Given the description of an element on the screen output the (x, y) to click on. 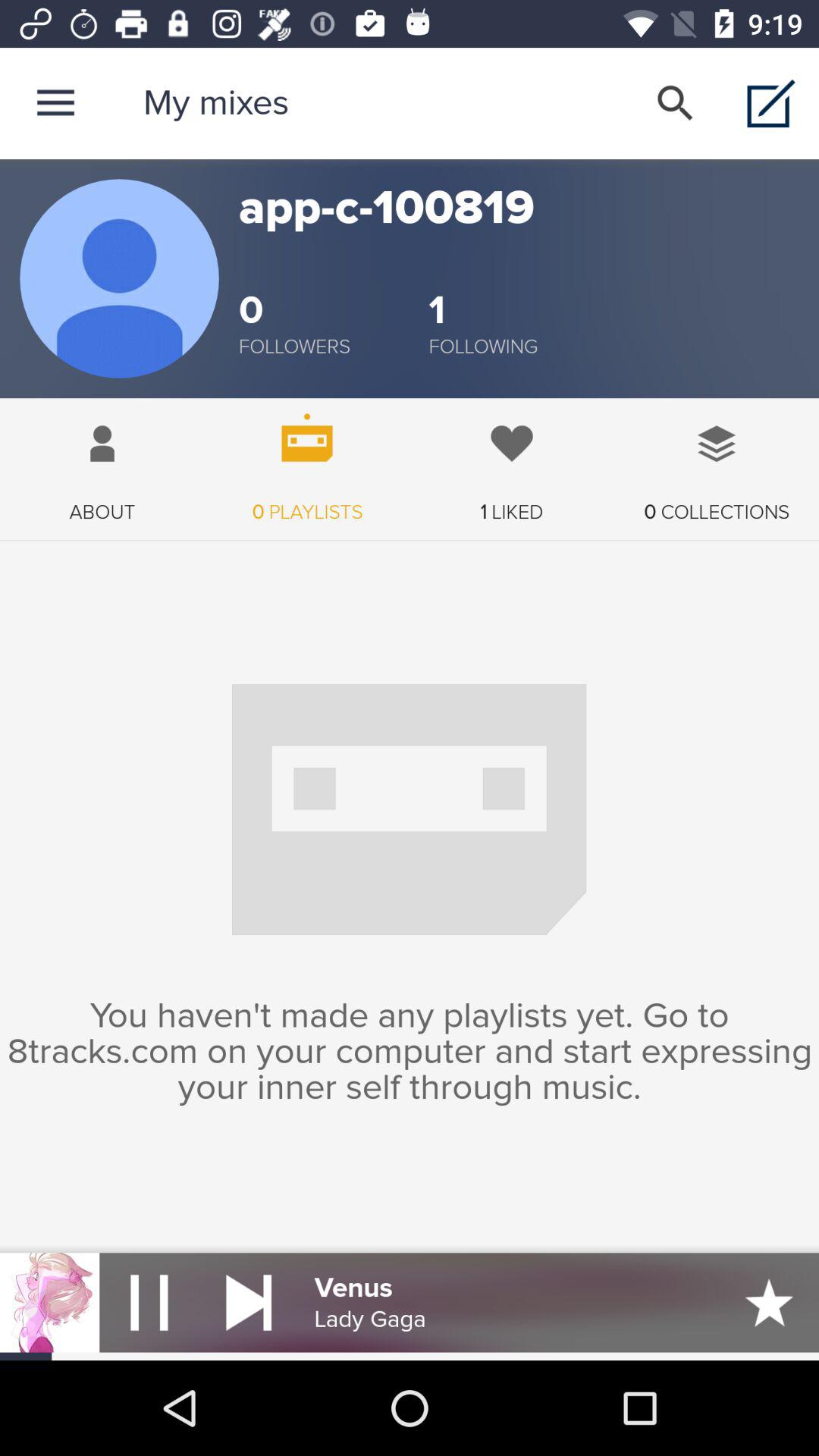
select app next to the 0 collections (511, 461)
